Given the description of an element on the screen output the (x, y) to click on. 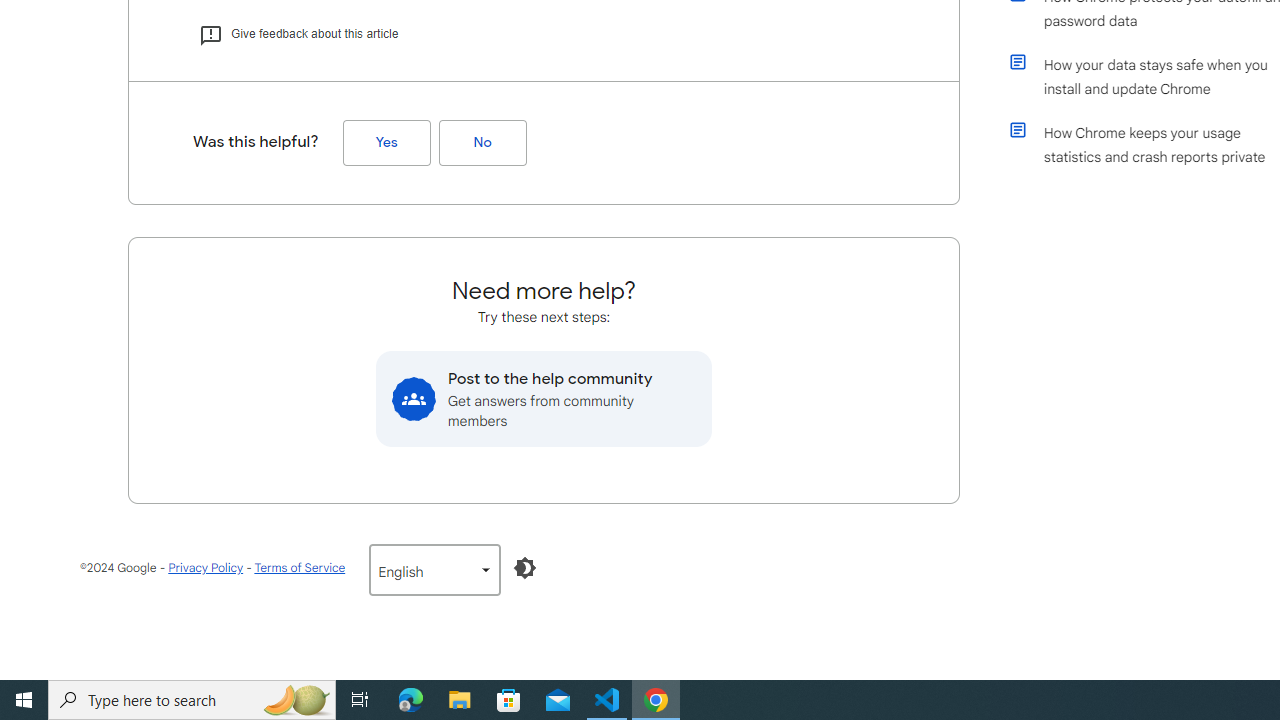
Enable Dark Mode (525, 567)
Give feedback about this article (298, 33)
Yes (Was this helpful?) (386, 143)
No (Was this helpful?) (482, 143)
